Given the description of an element on the screen output the (x, y) to click on. 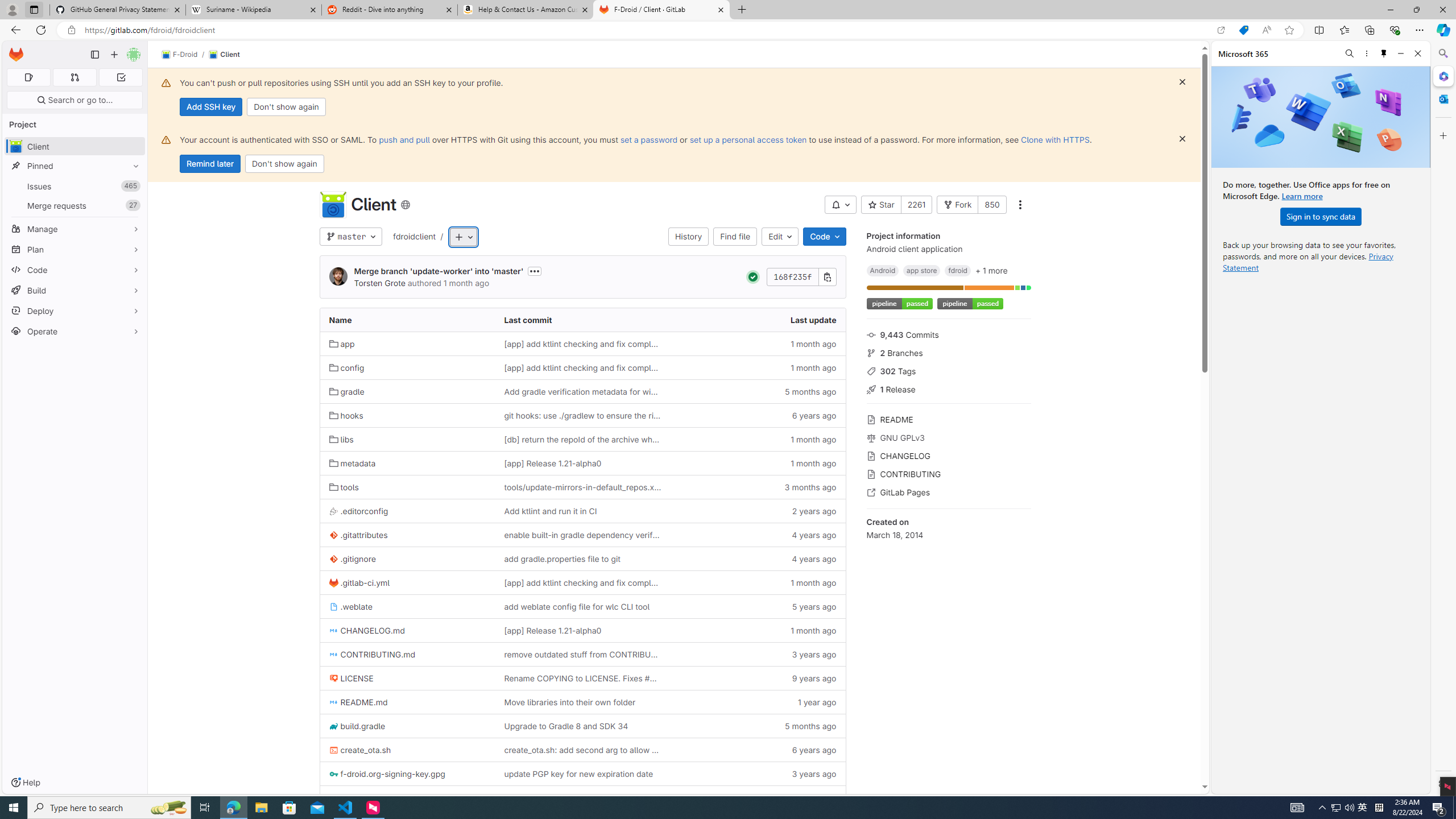
.gitignore (352, 558)
2 years ago (757, 510)
 Star (880, 204)
fdroidclient (414, 236)
9,443 Commits (948, 333)
Unpin Issues (132, 186)
update PGP key for new expiration date (583, 773)
Class: s16 position-relative file-icon (333, 798)
Name (407, 319)
Fork (957, 204)
